Given the description of an element on the screen output the (x, y) to click on. 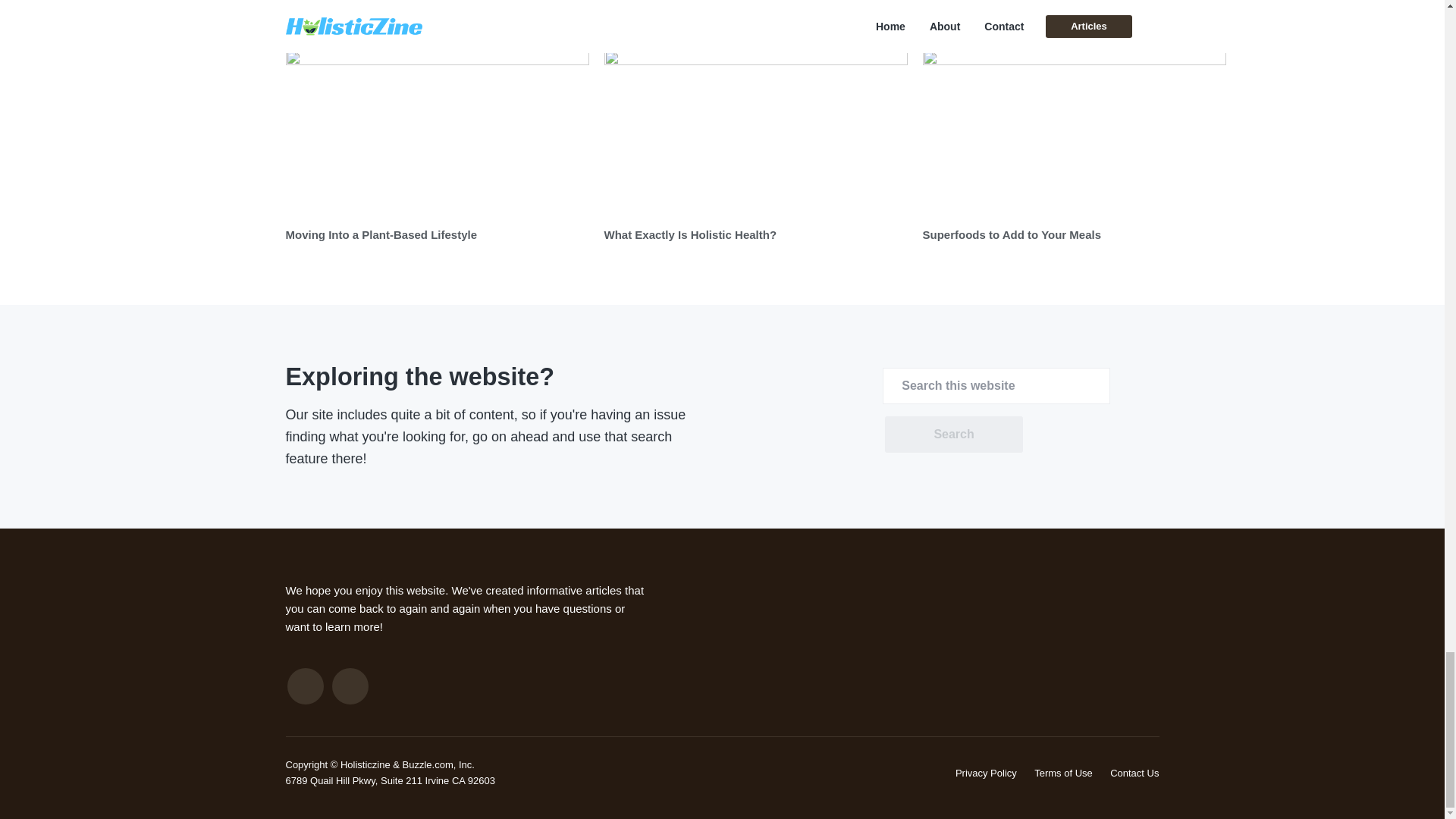
Superfoods to Add to Your Meals (1010, 234)
What Exactly Is Holistic Health? (690, 234)
Permanent Link to Moving Into a Plant-Based Lifestyle (381, 234)
Permanent Link to Superfoods to Add to Your Meals (1073, 133)
Search (953, 434)
Permanent Link to Moving Into a Plant-Based Lifestyle (436, 133)
Permanent Link to What Exactly Is Holistic Health? (755, 133)
Search (953, 434)
Permanent Link to Superfoods to Add to Your Meals (1010, 234)
Permanent Link to What Exactly Is Holistic Health? (690, 234)
